Given the description of an element on the screen output the (x, y) to click on. 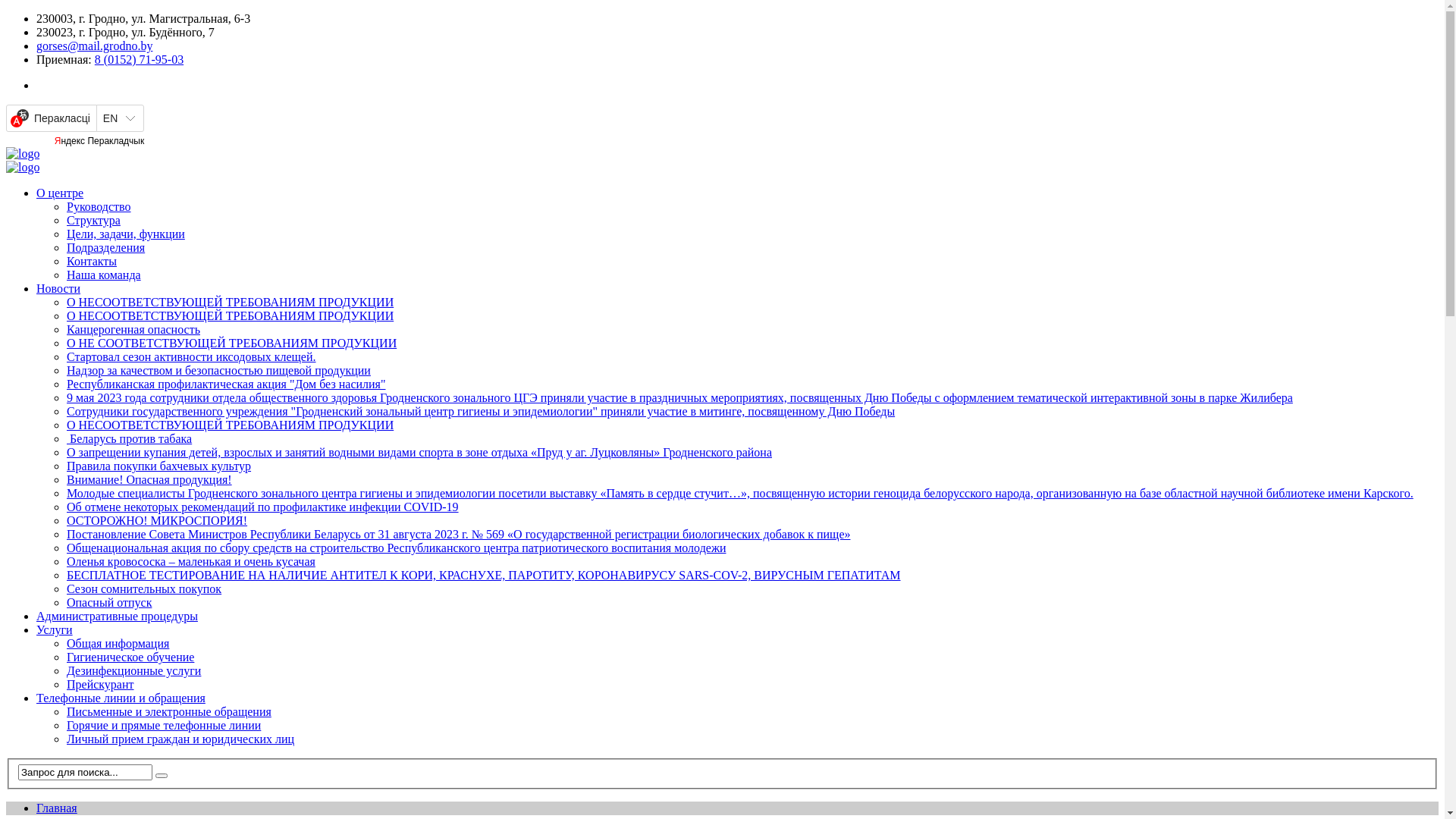
8 (0152) 71-95-03 Element type: text (138, 59)
gorses@mail.grodno.by Element type: text (94, 45)
